Given the description of an element on the screen output the (x, y) to click on. 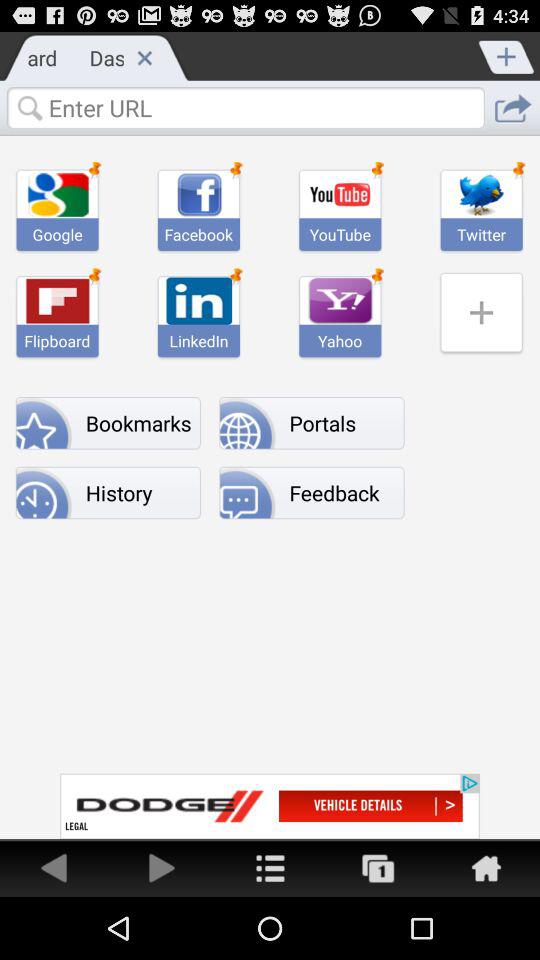
go to home menu (270, 867)
